Given the description of an element on the screen output the (x, y) to click on. 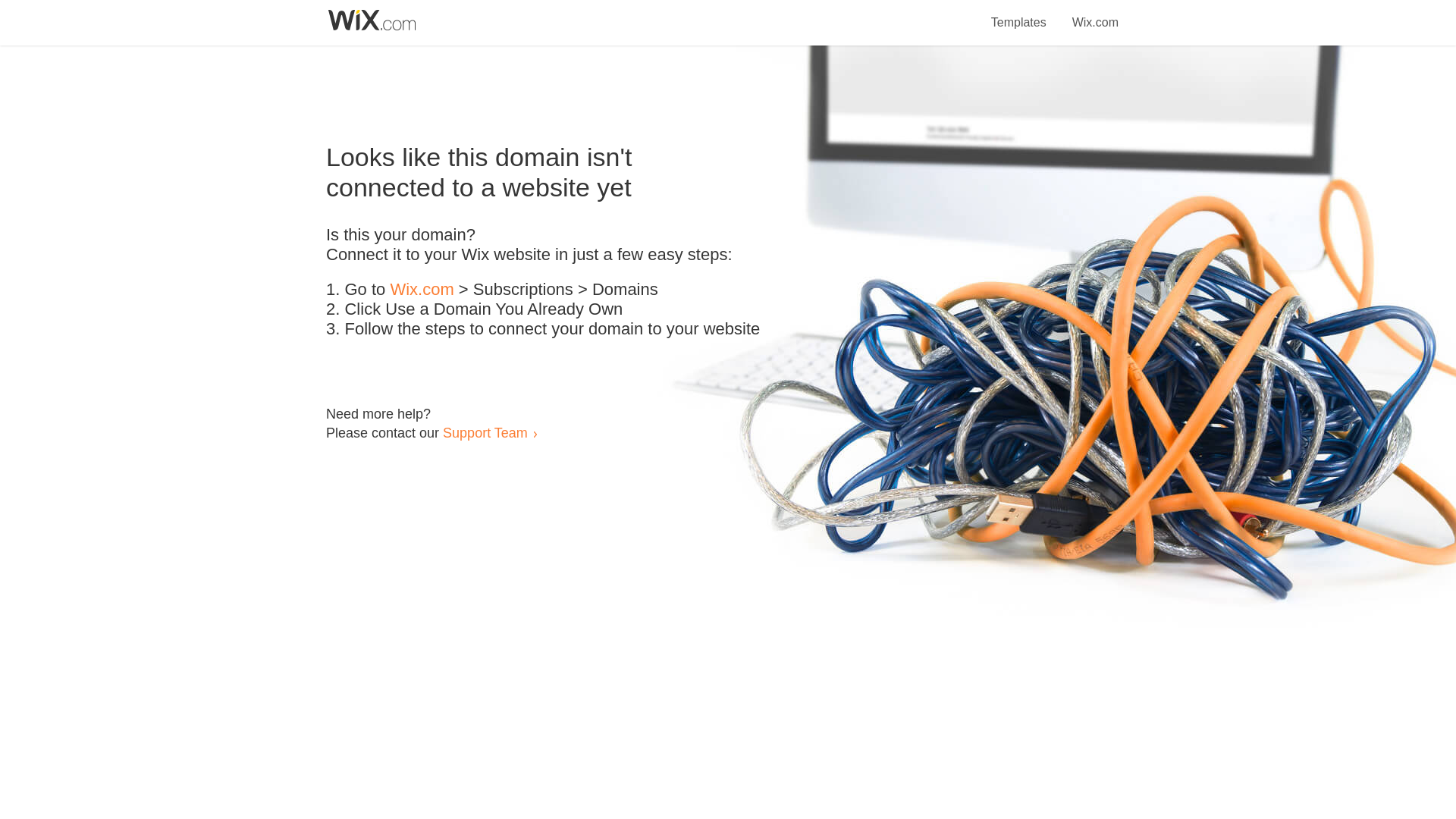
Wix.com (1095, 14)
Wix.com (421, 289)
Templates (1018, 14)
Support Team (484, 432)
